Given the description of an element on the screen output the (x, y) to click on. 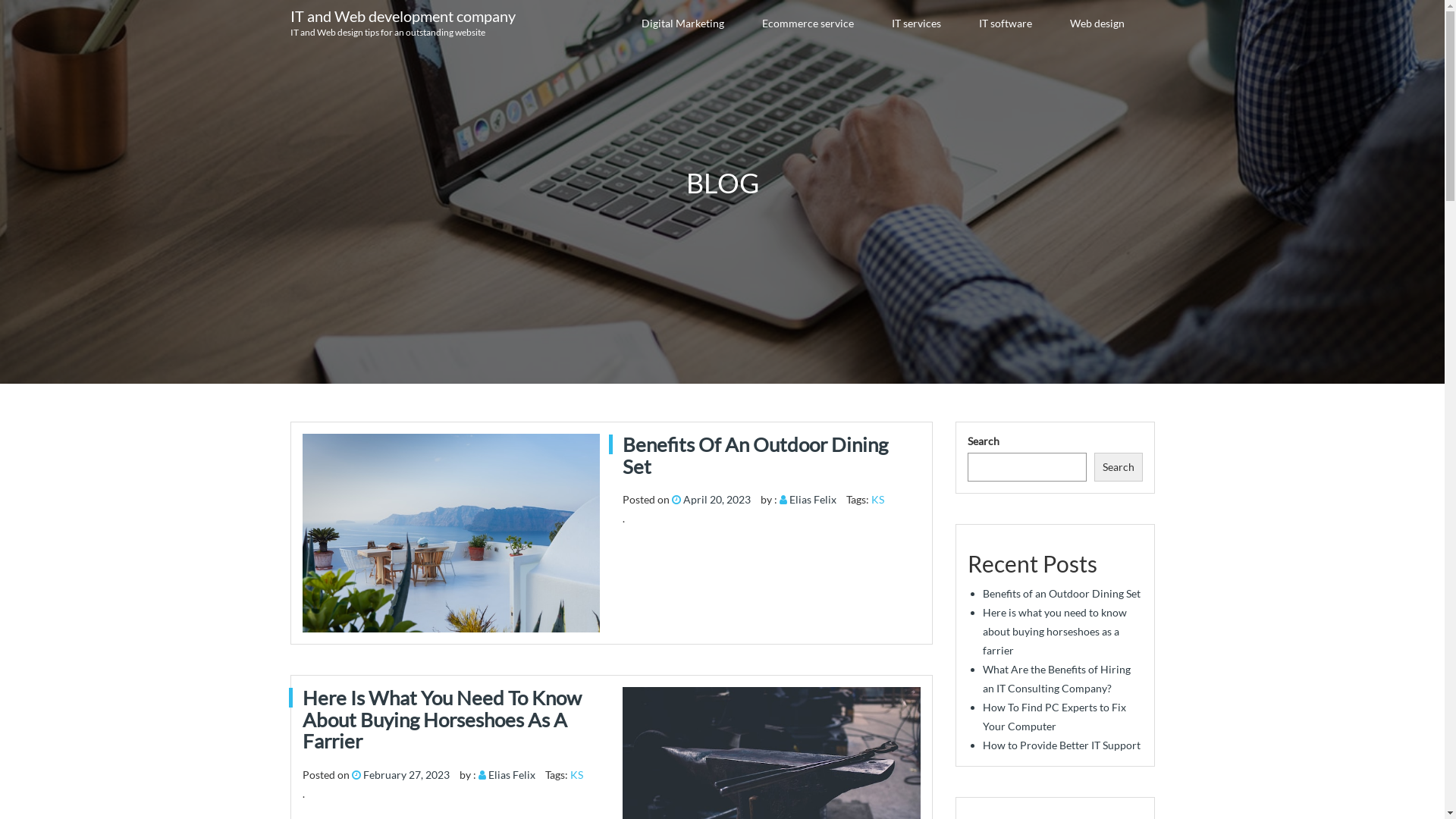
What Are the Benefits of Hiring an IT Consulting Company? Element type: text (1056, 678)
Benefits Of An Outdoor Dining Set Element type: text (771, 454)
IT software Element type: text (1004, 23)
Elias Felix Element type: text (511, 774)
How To Find PC Experts to Fix Your Computer Element type: text (1054, 716)
Benefits of an Outdoor Dining Set Element type: text (1061, 592)
Elias Felix Element type: text (812, 498)
Web design Element type: text (1096, 23)
KS Element type: text (877, 498)
April 20, 2023 Element type: text (716, 498)
KS Element type: text (576, 774)
Digital Marketing Element type: text (682, 23)
February 27, 2023 Element type: text (405, 774)
Ecommerce service Element type: text (807, 23)
Search Element type: text (1117, 466)
How to Provide Better IT Support Element type: text (1061, 744)
IT services Element type: text (916, 23)
